Given the description of an element on the screen output the (x, y) to click on. 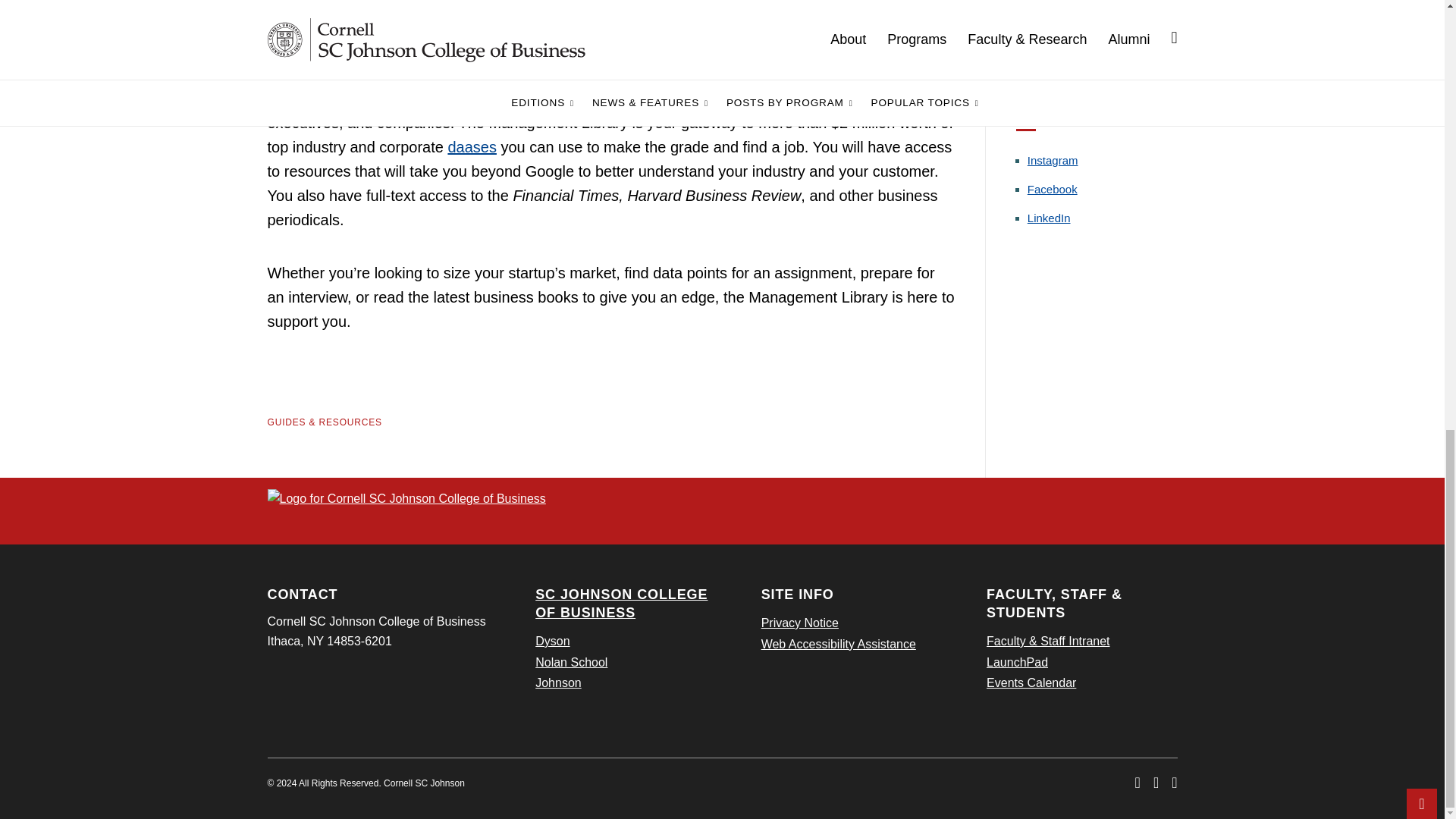
Follow Johnson on LinkedIn (1048, 217)
Follow Johnson on Instagram (1052, 160)
Follow Johnson on Facebook (1052, 188)
